Given the description of an element on the screen output the (x, y) to click on. 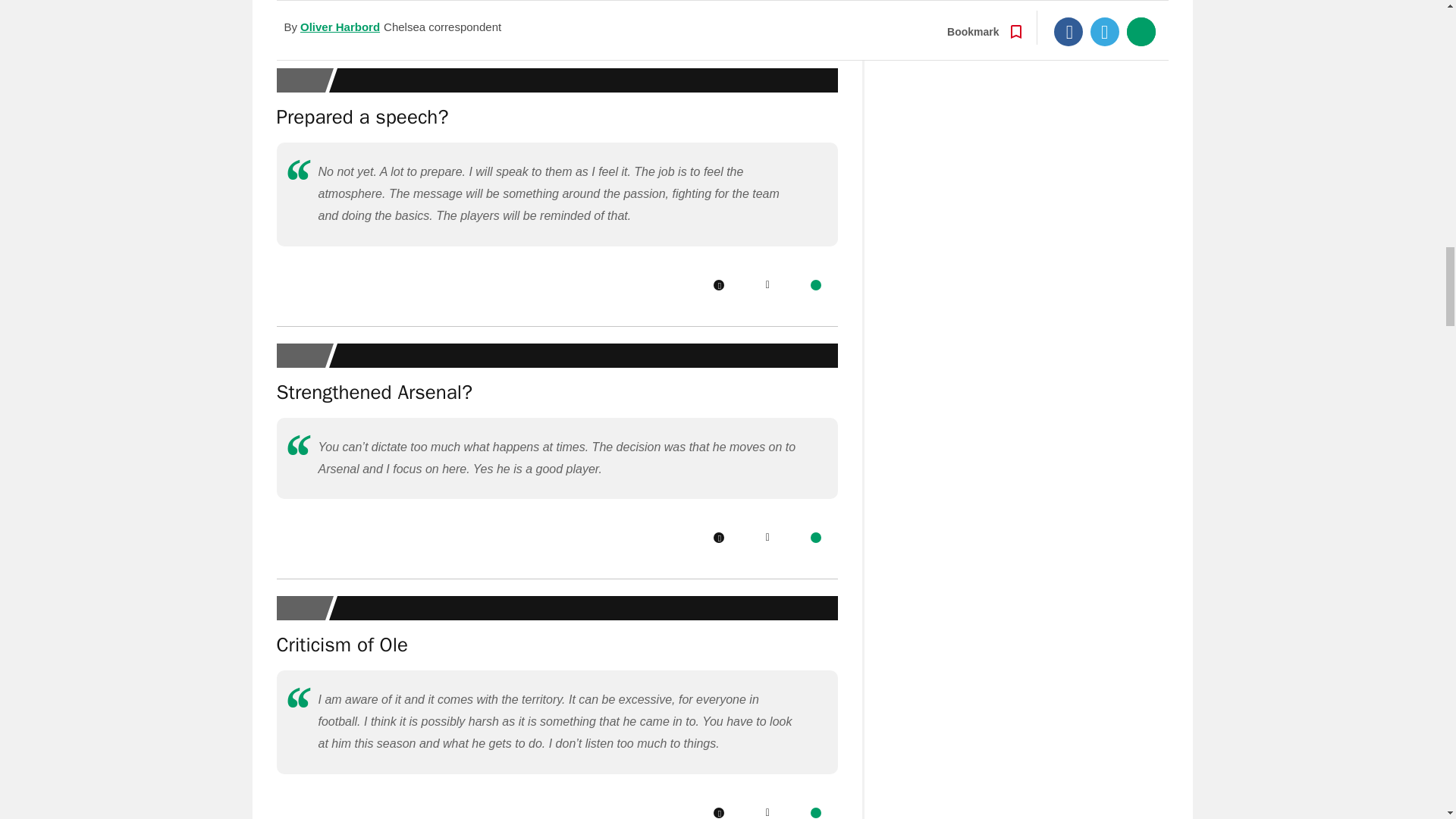
Facebook (718, 285)
Facebook (718, 9)
Twitter (767, 9)
Facebook (718, 537)
Twitter (767, 285)
Twitter (767, 537)
